Given the description of an element on the screen output the (x, y) to click on. 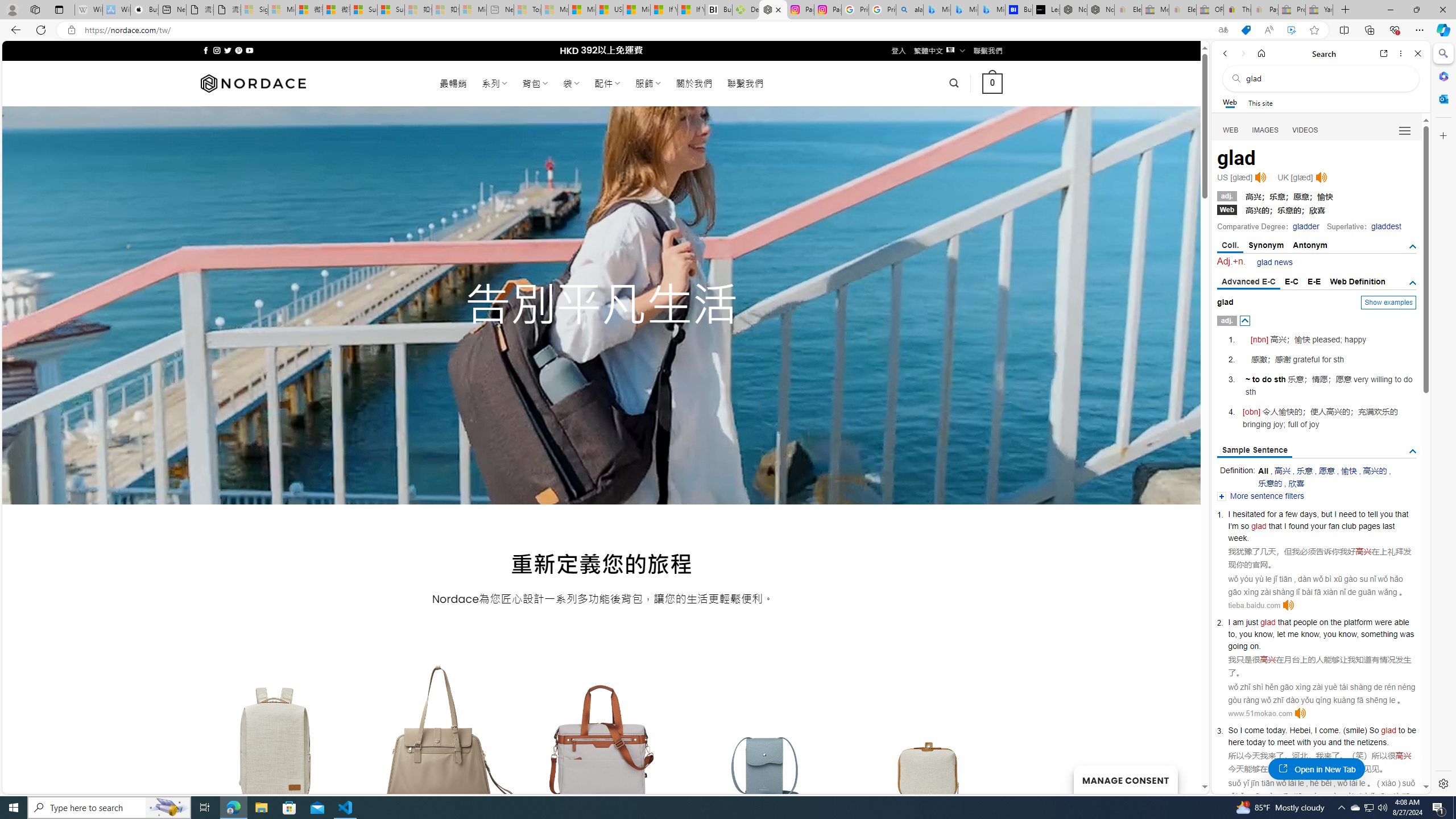
Microsoft Bing Travel - Flights from Hong Kong to Bangkok (936, 9)
was (1406, 633)
gladder (1305, 225)
Click to listen (1300, 713)
glad news (1274, 261)
Hebei (1300, 729)
